Given the description of an element on the screen output the (x, y) to click on. 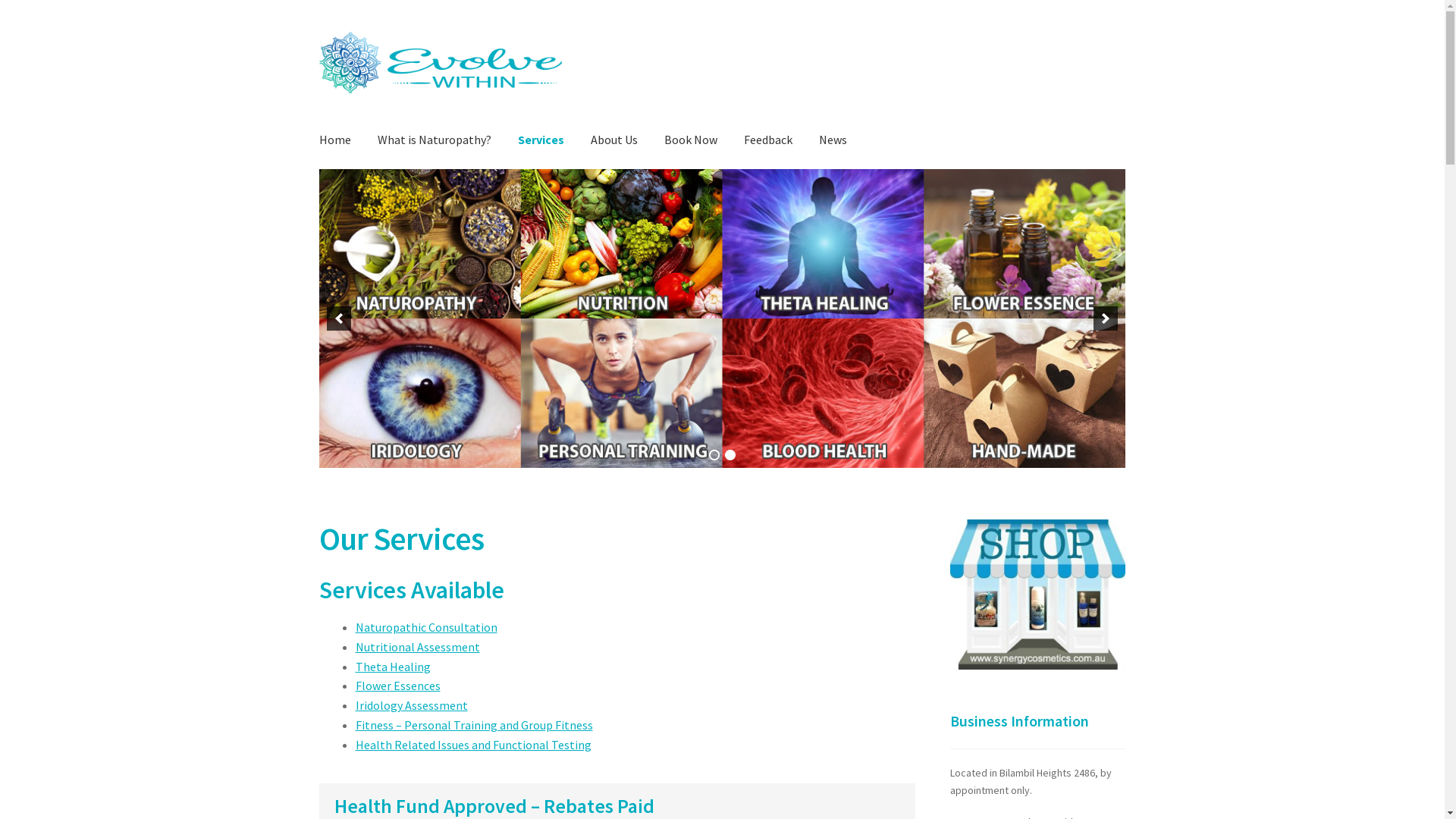
Skip to navigation Element type: text (318, 31)
Flower Essences Element type: text (397, 685)
Services Element type: text (540, 139)
Health Related Issues and Functional Testing Element type: text (473, 744)
Theta Healing Element type: text (392, 666)
Feedback Element type: text (767, 139)
What is Naturopathy? Element type: text (434, 139)
Iridology Assessment Element type: text (411, 704)
News Element type: text (832, 139)
Naturopathic Consultation Element type: text (426, 626)
Home Element type: text (335, 139)
Book Now Element type: text (690, 139)
Nutritional Assessment Element type: text (417, 646)
About Us Element type: text (613, 139)
